Given the description of an element on the screen output the (x, y) to click on. 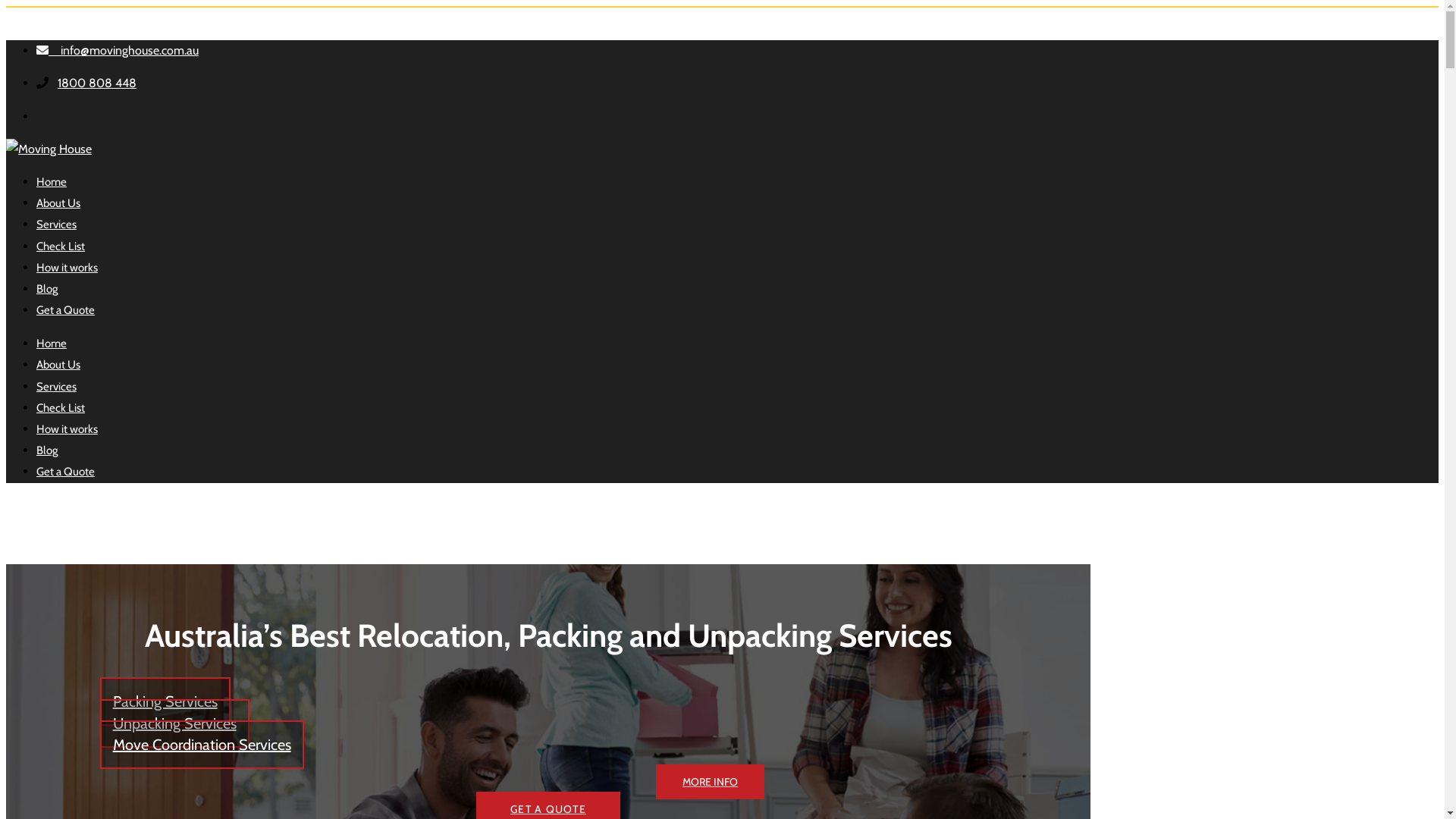
Packing Services Element type: text (165, 701)
How it works Element type: text (66, 429)
About Us Element type: text (58, 364)
Check List Element type: text (60, 246)
Services Element type: text (56, 224)
Services Element type: text (56, 386)
    info@movinghouse.com.au Element type: text (117, 50)
Blog Element type: text (46, 450)
Check List Element type: text (60, 407)
Blog Element type: text (46, 288)
Home Element type: text (51, 181)
MORE INFO Element type: text (709, 781)
How it works Element type: text (66, 267)
Get a Quote Element type: text (65, 471)
Home Element type: text (51, 343)
About Us Element type: text (58, 203)
Get a Quote Element type: text (65, 309)
Unpacking Services Element type: text (174, 723)
Move Coordination Services Element type: text (202, 744)
1800 808 448 Element type: text (96, 82)
